Given the description of an element on the screen output the (x, y) to click on. 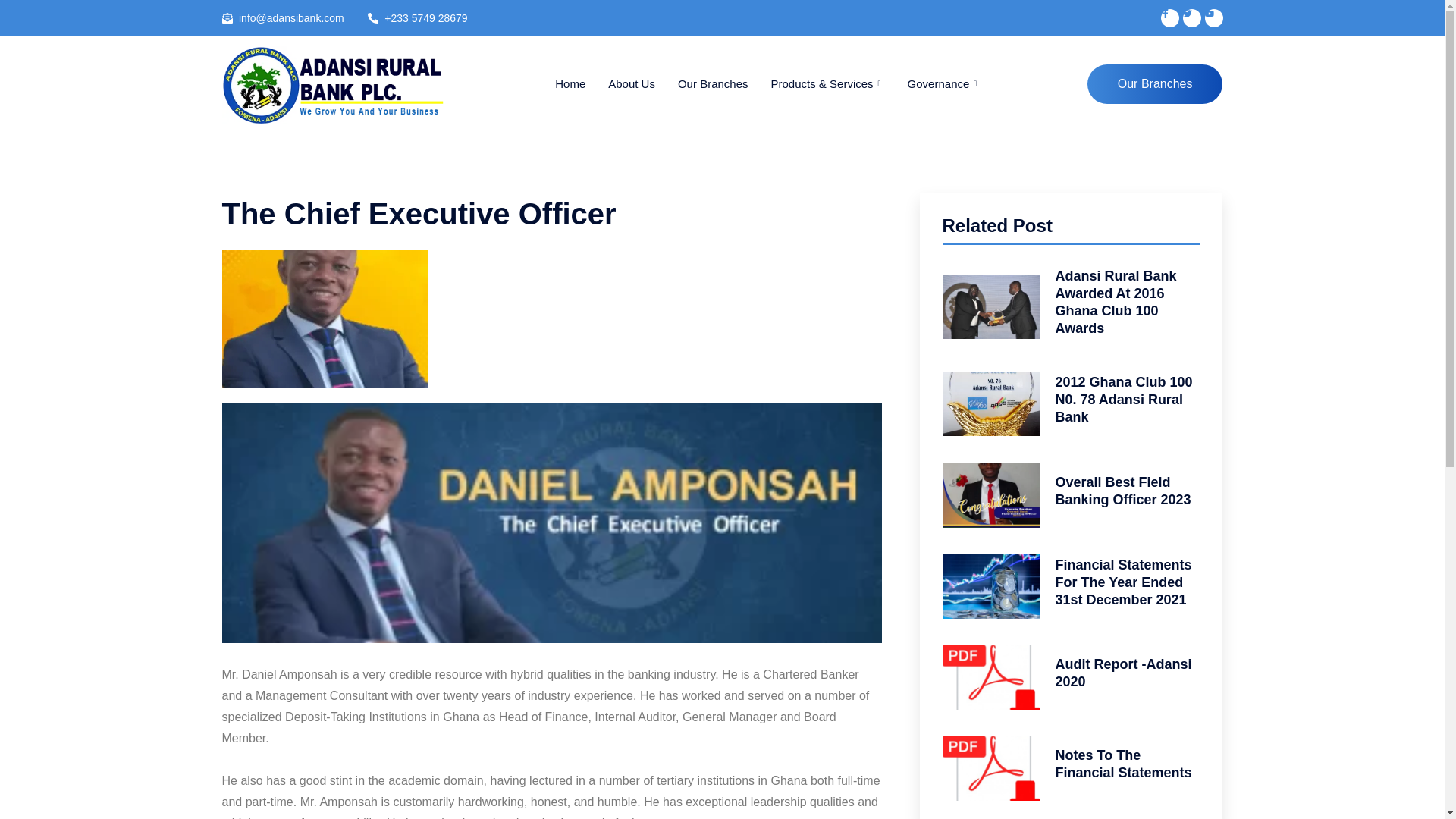
Home (569, 83)
Twitter (1191, 18)
Facebook-f (1168, 18)
Notes To The Financial Statements (1123, 763)
Financial Statements For The Year Ended 31st December 2021 (1123, 582)
2012 Ghana Club 100 N0. 78 Adansi Rural Bank (1123, 399)
Youtube (1213, 18)
About Us (631, 83)
Audit Report -Adansi 2020 (1123, 672)
Overall Best Field Banking Officer 2023 (1123, 490)
Adansi Rural Bank Awarded At 2016 Ghana Club 100 Awards (1115, 301)
Our Branches (1155, 84)
Our Branches (713, 83)
Governance (944, 83)
